Given the description of an element on the screen output the (x, y) to click on. 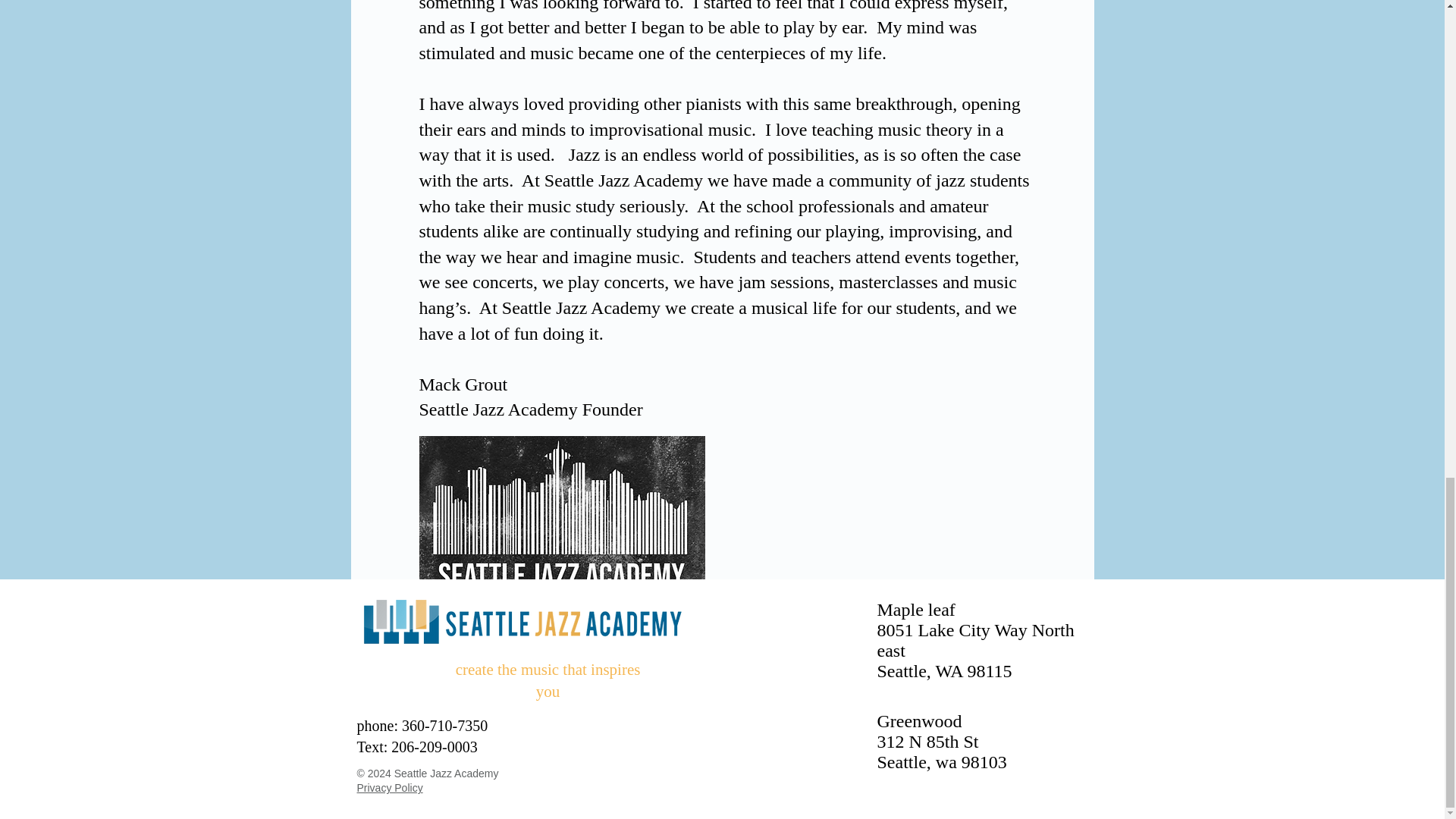
Privacy Policy (389, 787)
